Given the description of an element on the screen output the (x, y) to click on. 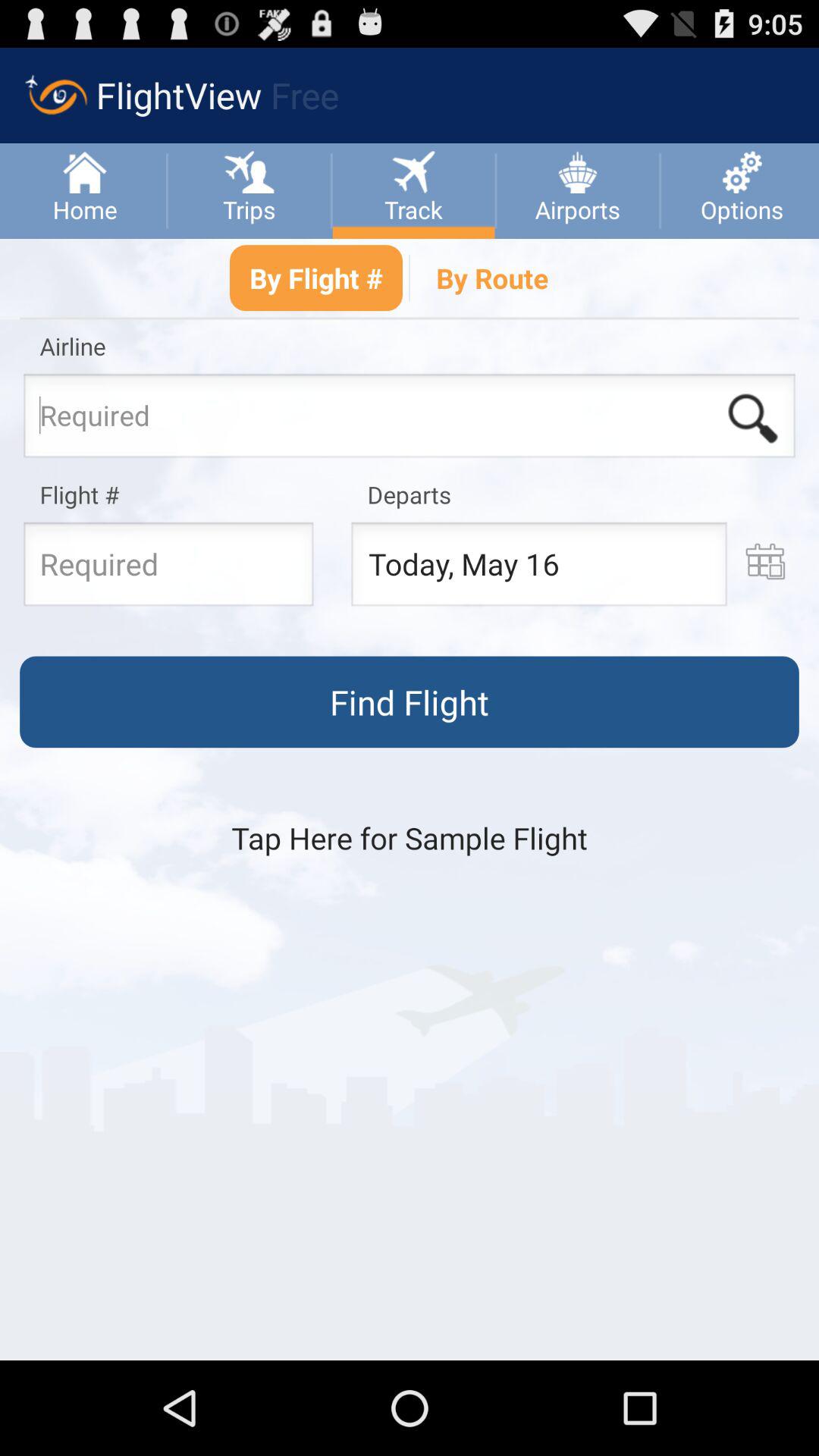
search (752, 418)
